Given the description of an element on the screen output the (x, y) to click on. 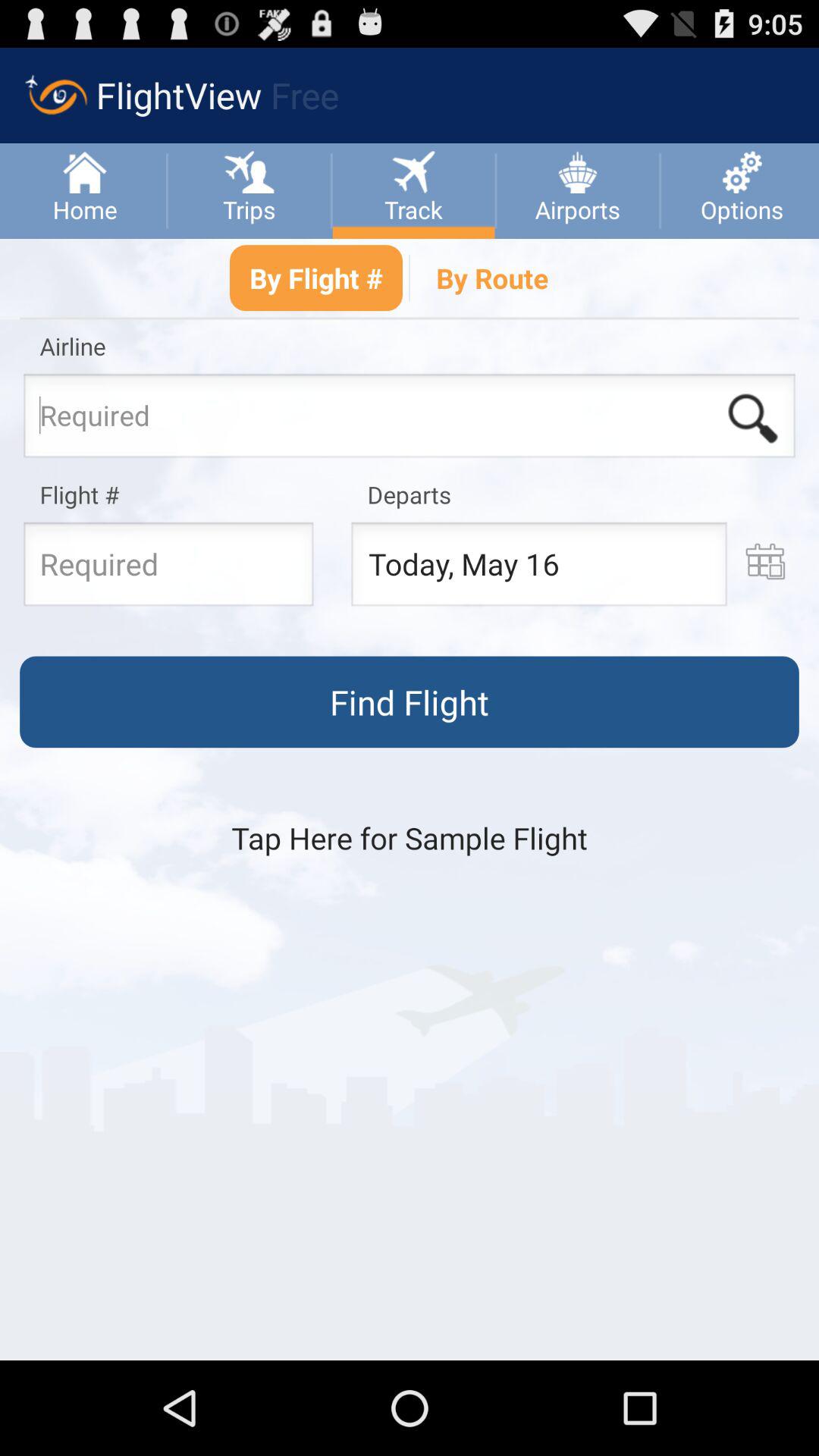
search (752, 418)
